Given the description of an element on the screen output the (x, y) to click on. 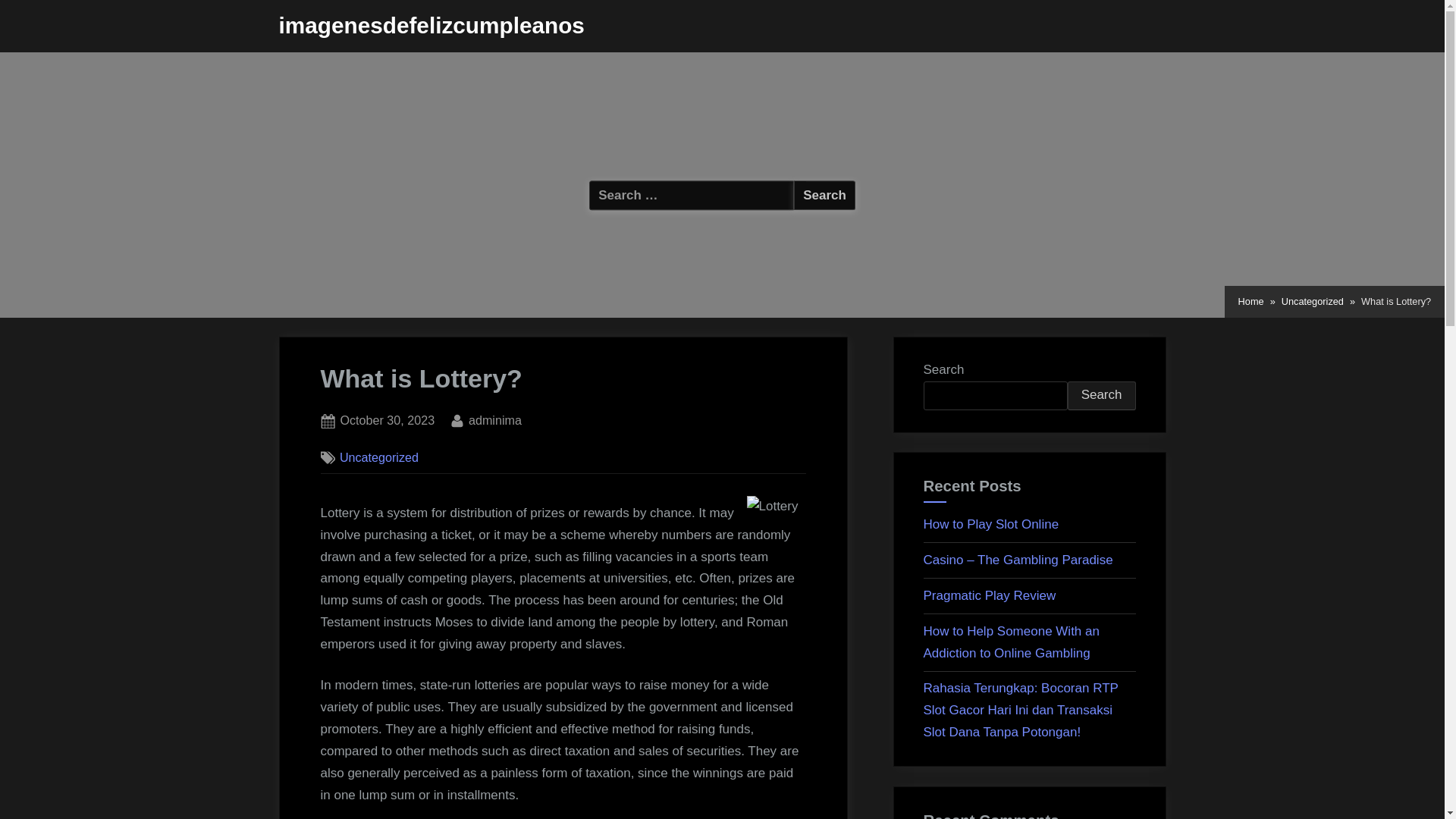
Uncategorized (379, 457)
How to Play Slot Online (991, 523)
Search (824, 194)
Uncategorized (1312, 301)
How to Help Someone With an Addiction to Online Gambling (1011, 642)
Search (1101, 395)
Pragmatic Play Review (990, 595)
imagenesdefelizcumpleanos (386, 420)
